Given the description of an element on the screen output the (x, y) to click on. 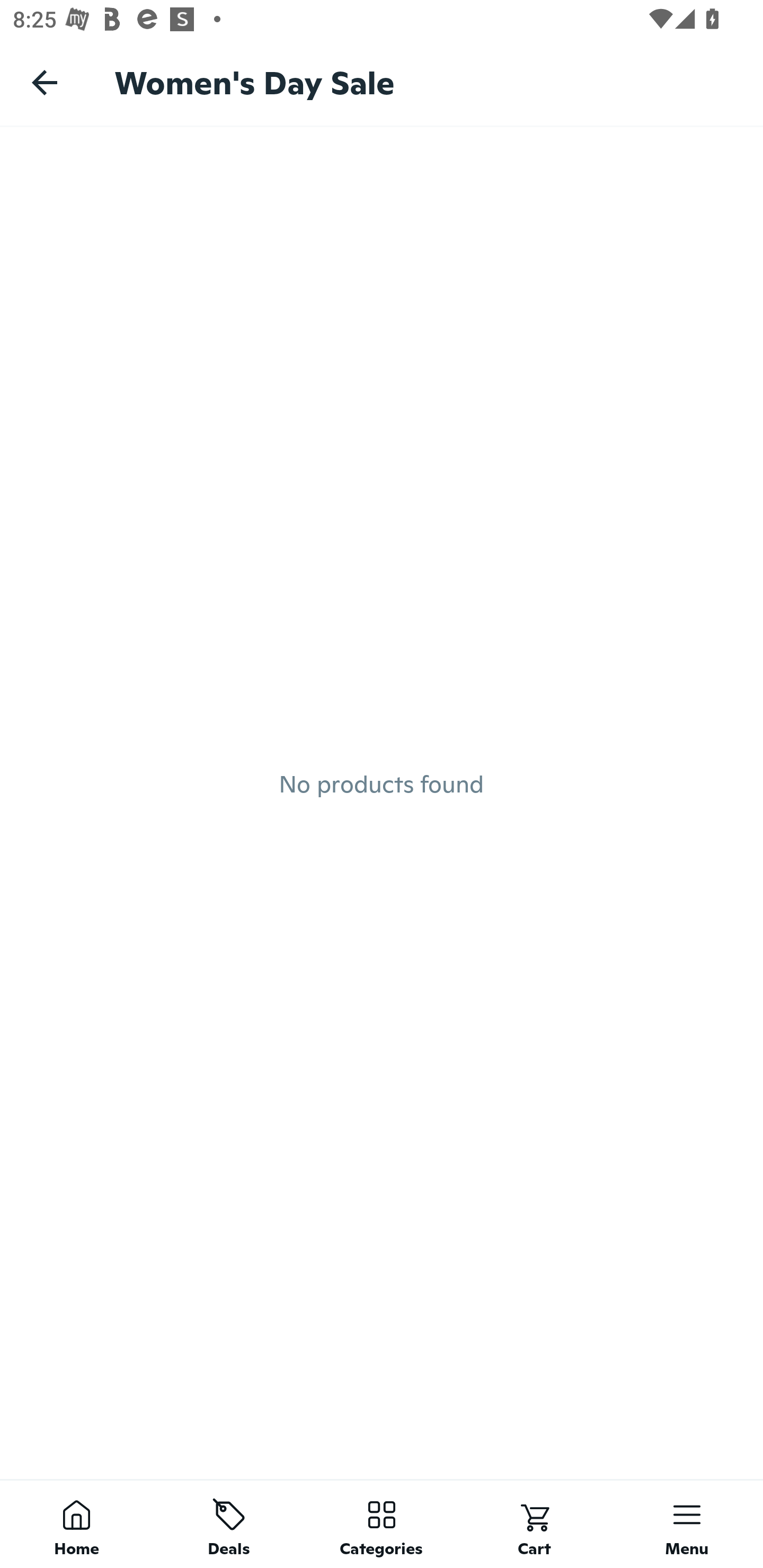
Navigate up (44, 82)
Home (76, 1523)
Deals (228, 1523)
Categories (381, 1523)
Cart (533, 1523)
Menu (686, 1523)
